Given the description of an element on the screen output the (x, y) to click on. 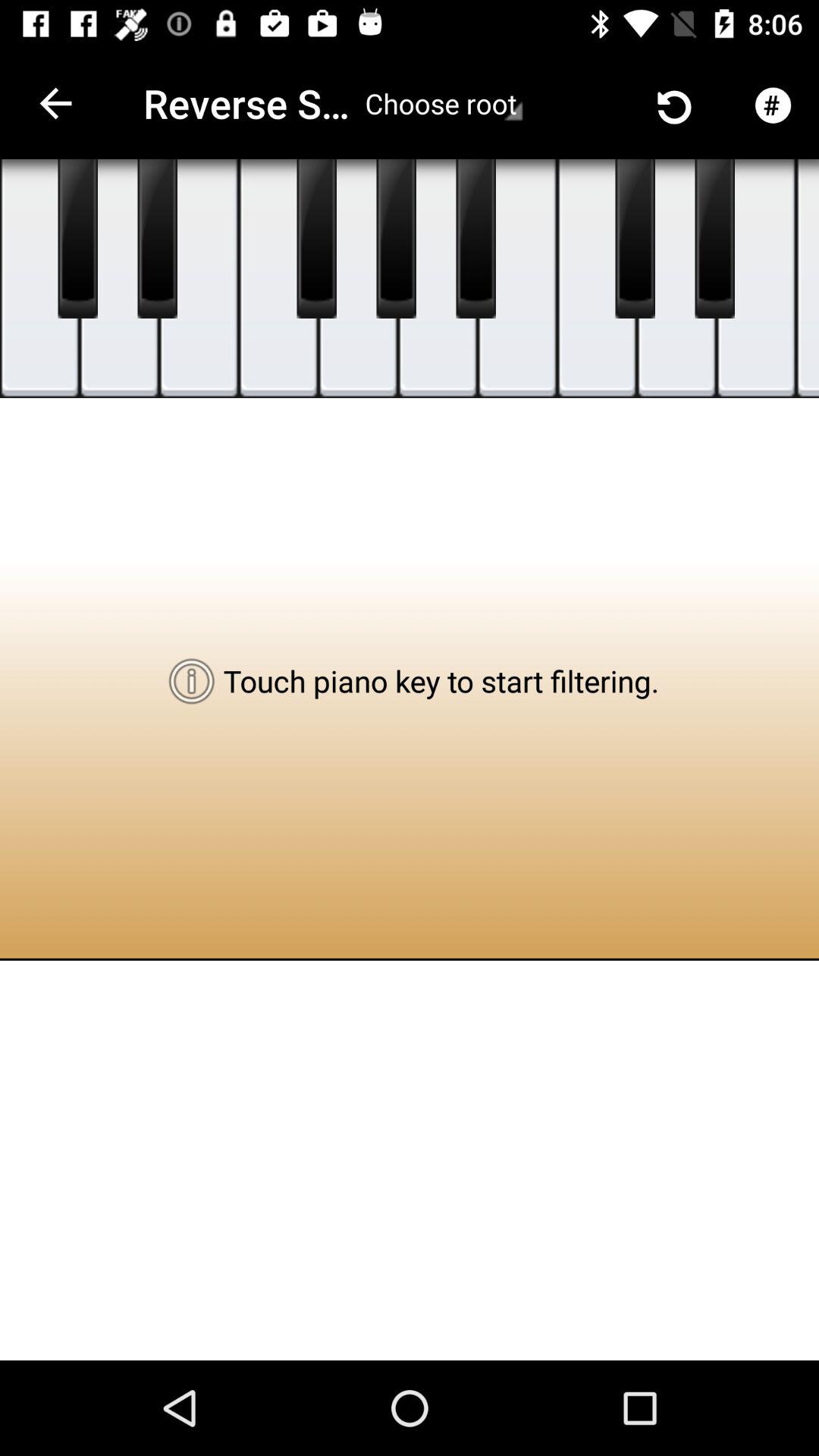
select piano key (475, 238)
